Given the description of an element on the screen output the (x, y) to click on. 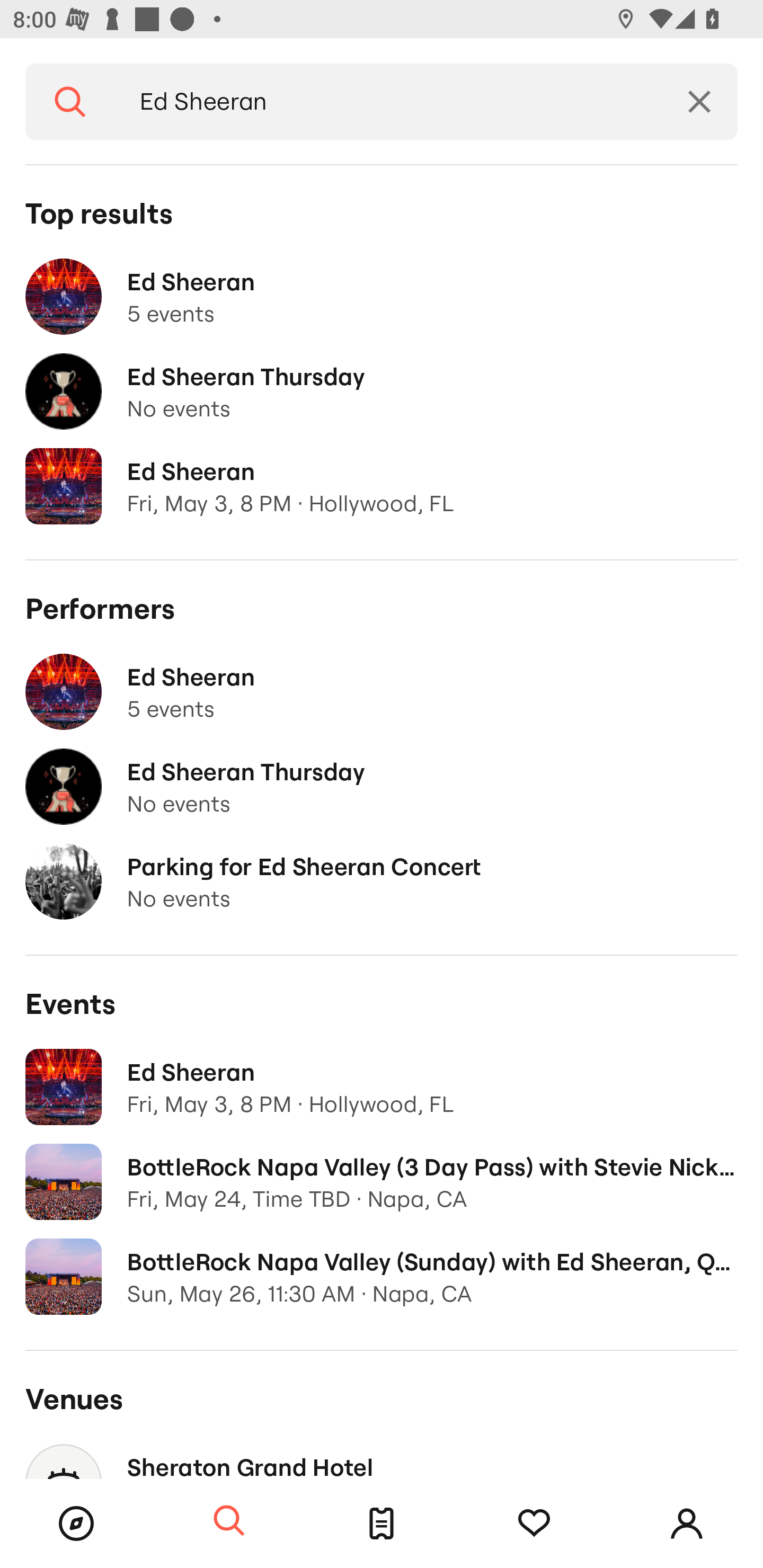
Search (69, 101)
Ed Sheeran (387, 101)
Clear (699, 101)
Ed Sheeran 5 events (381, 296)
Ed Sheeran Thursday No events (381, 391)
Ed Sheeran Fri, May 3, 8 PM · Hollywood, FL (381, 486)
Ed Sheeran 5 events (381, 692)
Ed Sheeran Thursday No events (381, 787)
Parking for Ed Sheeran Concert No events (381, 881)
Ed Sheeran Fri, May 3, 8 PM · Hollywood, FL (381, 1087)
Browse (76, 1523)
Search (228, 1521)
Tickets (381, 1523)
Tracking (533, 1523)
Account (686, 1523)
